Given the description of an element on the screen output the (x, y) to click on. 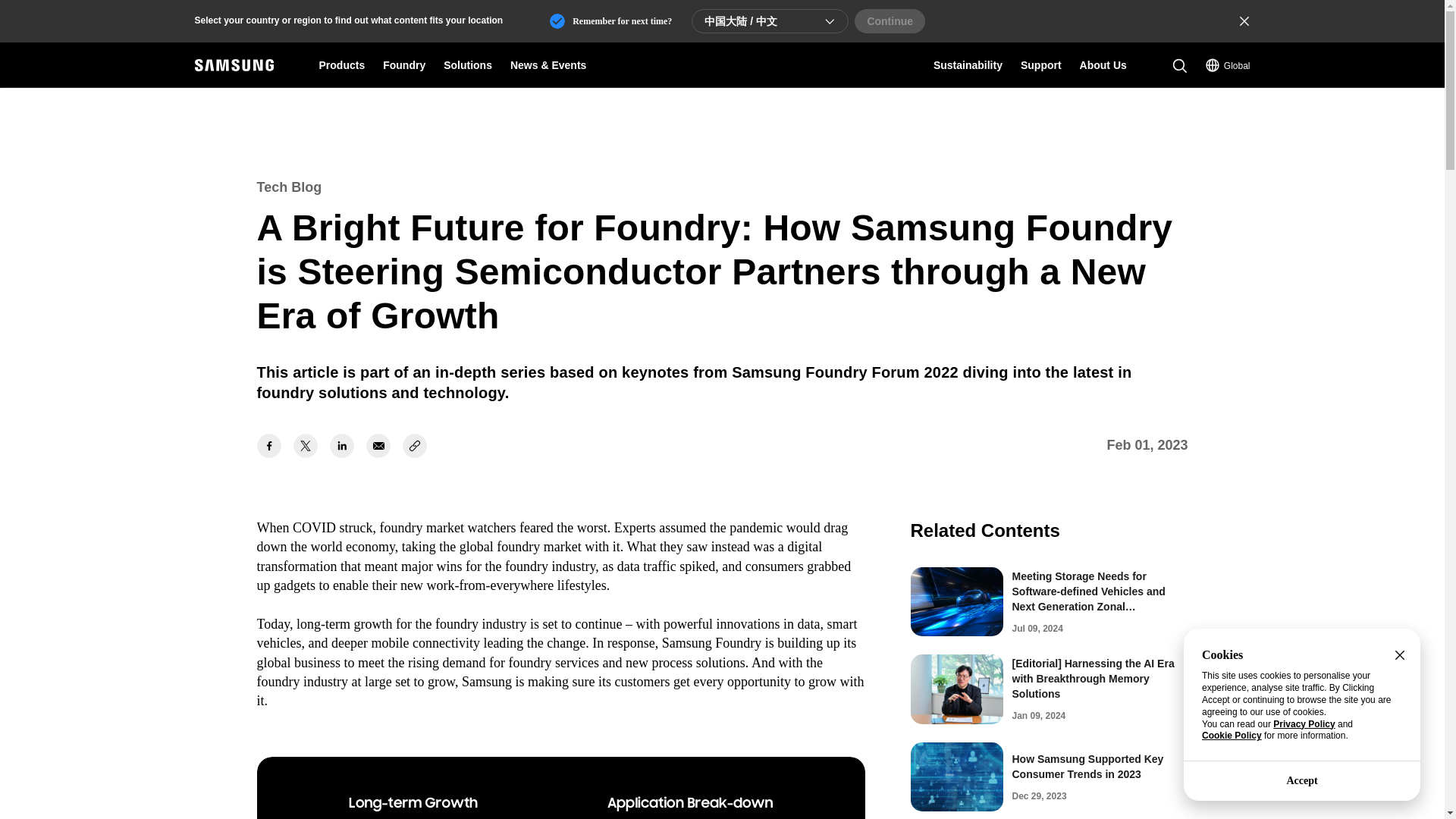
share to email (377, 445)
open new window (304, 445)
on (610, 20)
Products (341, 64)
open new window (341, 445)
Continue (889, 21)
open new window (268, 445)
